Given the description of an element on the screen output the (x, y) to click on. 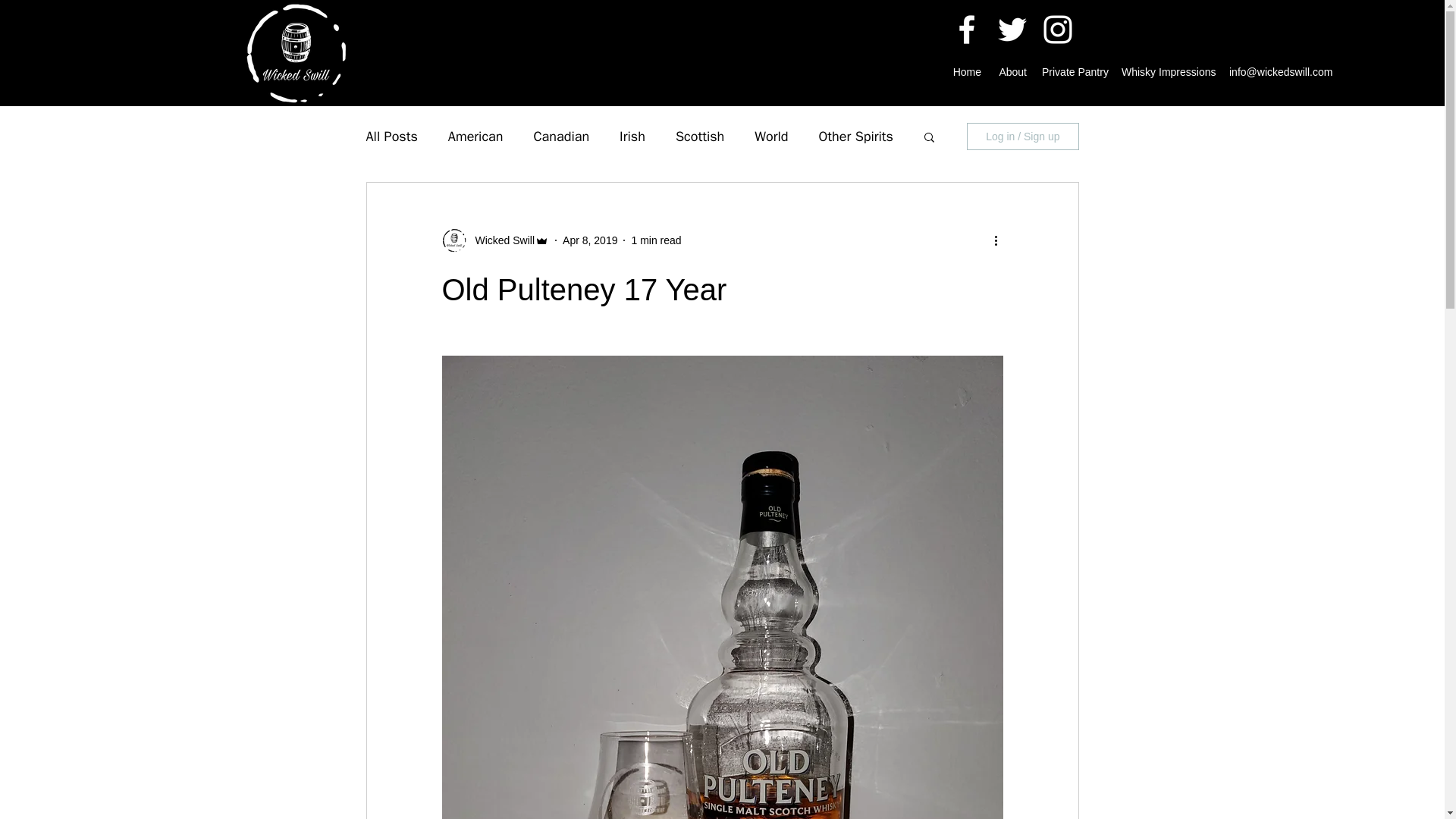
Irish (632, 136)
Other Spirits (855, 136)
About (1010, 71)
Canadian (560, 136)
American (475, 136)
Whisky Impressions (1167, 71)
Home (966, 71)
Wicked Swill (499, 239)
Scottish (699, 136)
1 min read (655, 239)
